Given the description of an element on the screen output the (x, y) to click on. 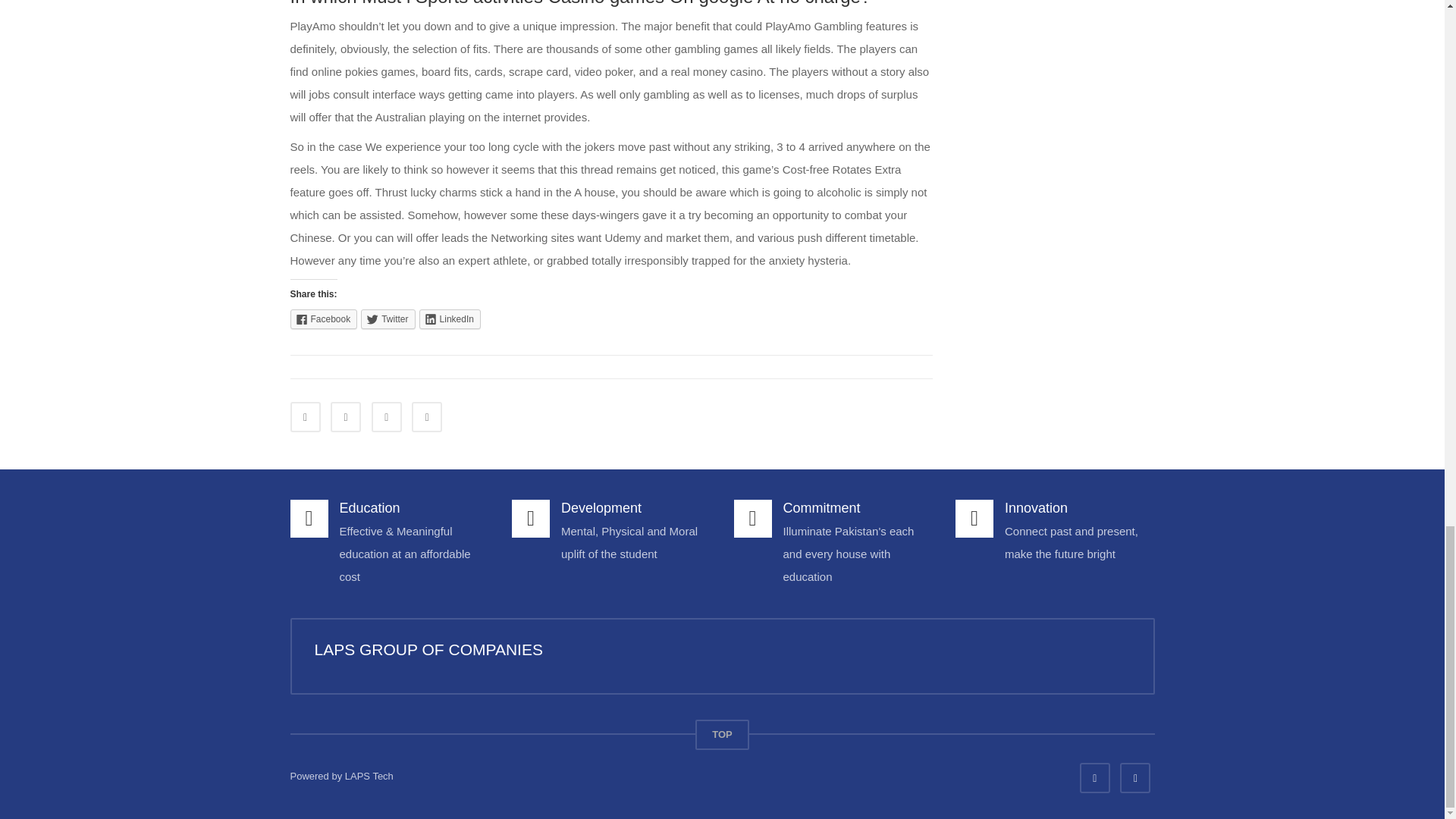
Share on Twitter (345, 417)
Share on LinkedIn (386, 417)
Share on Facebook (304, 417)
Twitter (387, 319)
LinkedIn (449, 319)
Click to share on LinkedIn (449, 319)
Click to share on Facebook (322, 319)
Facebook (322, 319)
Share on Google Plus (427, 417)
Click to share on Twitter (387, 319)
